Given the description of an element on the screen output the (x, y) to click on. 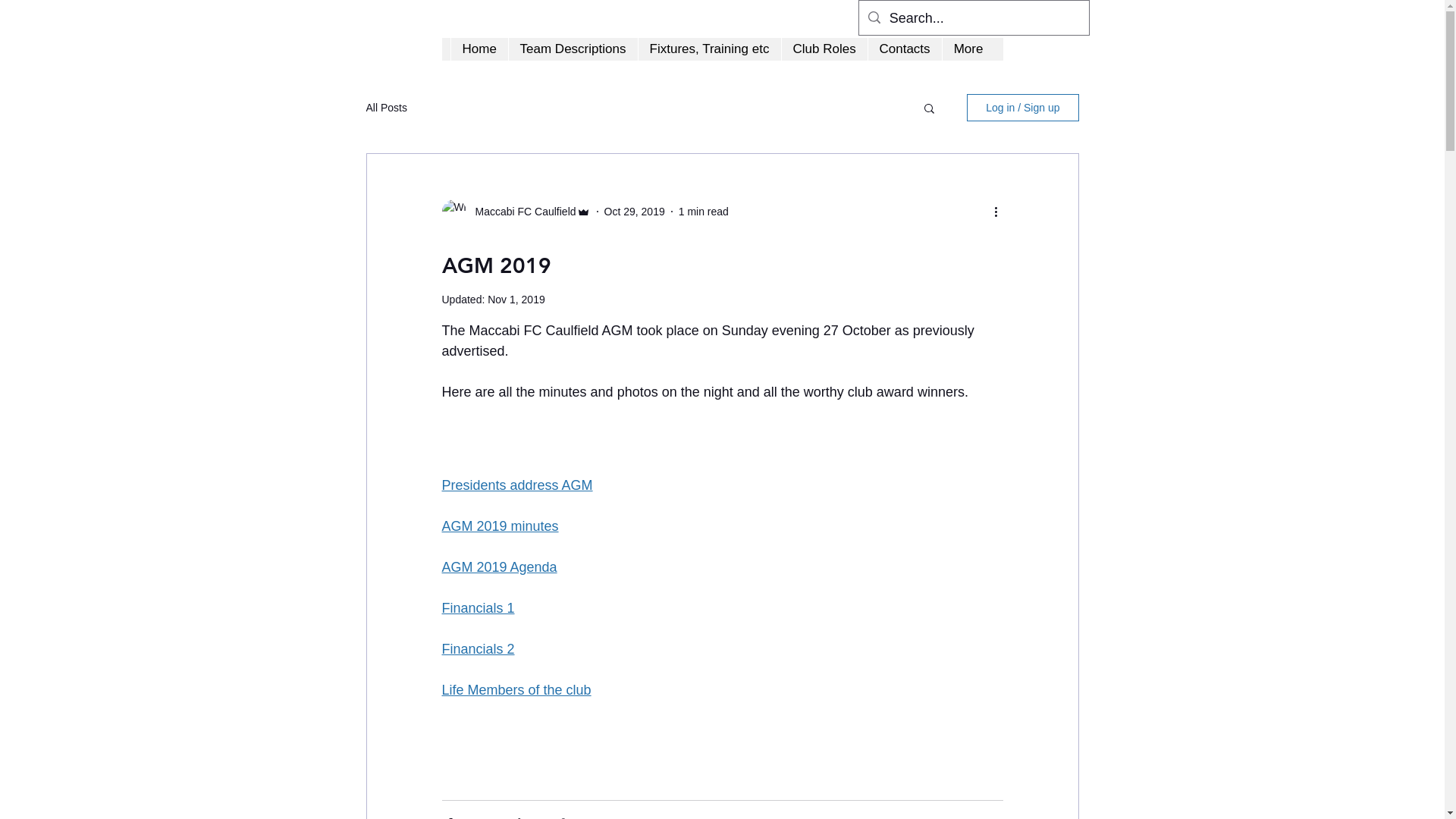
Financials 2 Element type: text (477, 648)
AGM 2019 Agenda Element type: text (498, 566)
Club Roles Element type: text (824, 48)
Contacts Element type: text (904, 48)
Home Element type: text (479, 48)
Team Descriptions Element type: text (572, 48)
All Posts Element type: text (385, 107)
Fixtures, Training etc Element type: text (708, 48)
Log in / Sign up Element type: text (1022, 107)
Financials 1 Element type: text (477, 607)
Presidents address AGM Element type: text (516, 484)
AGM 2019 minutes Element type: text (499, 525)
Life Members of the club Element type: text (515, 689)
